Given the description of an element on the screen output the (x, y) to click on. 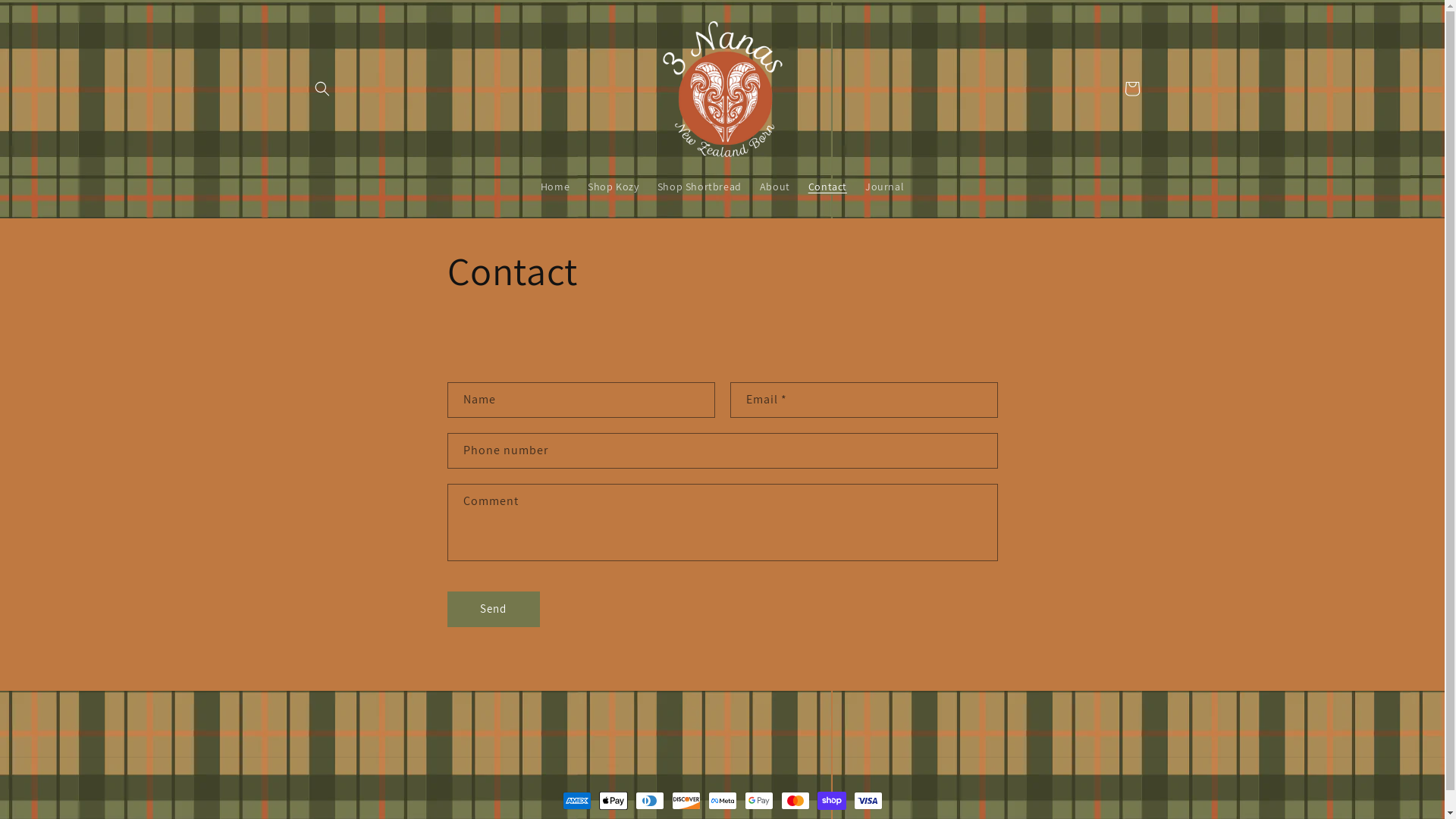
Home Element type: text (554, 186)
Cart Element type: text (1131, 88)
Shop Shortbread Element type: text (699, 186)
About Element type: text (774, 186)
Journal Element type: text (884, 186)
Shop Kozy Element type: text (612, 186)
Send Element type: text (493, 609)
Contact Element type: text (827, 186)
